Given the description of an element on the screen output the (x, y) to click on. 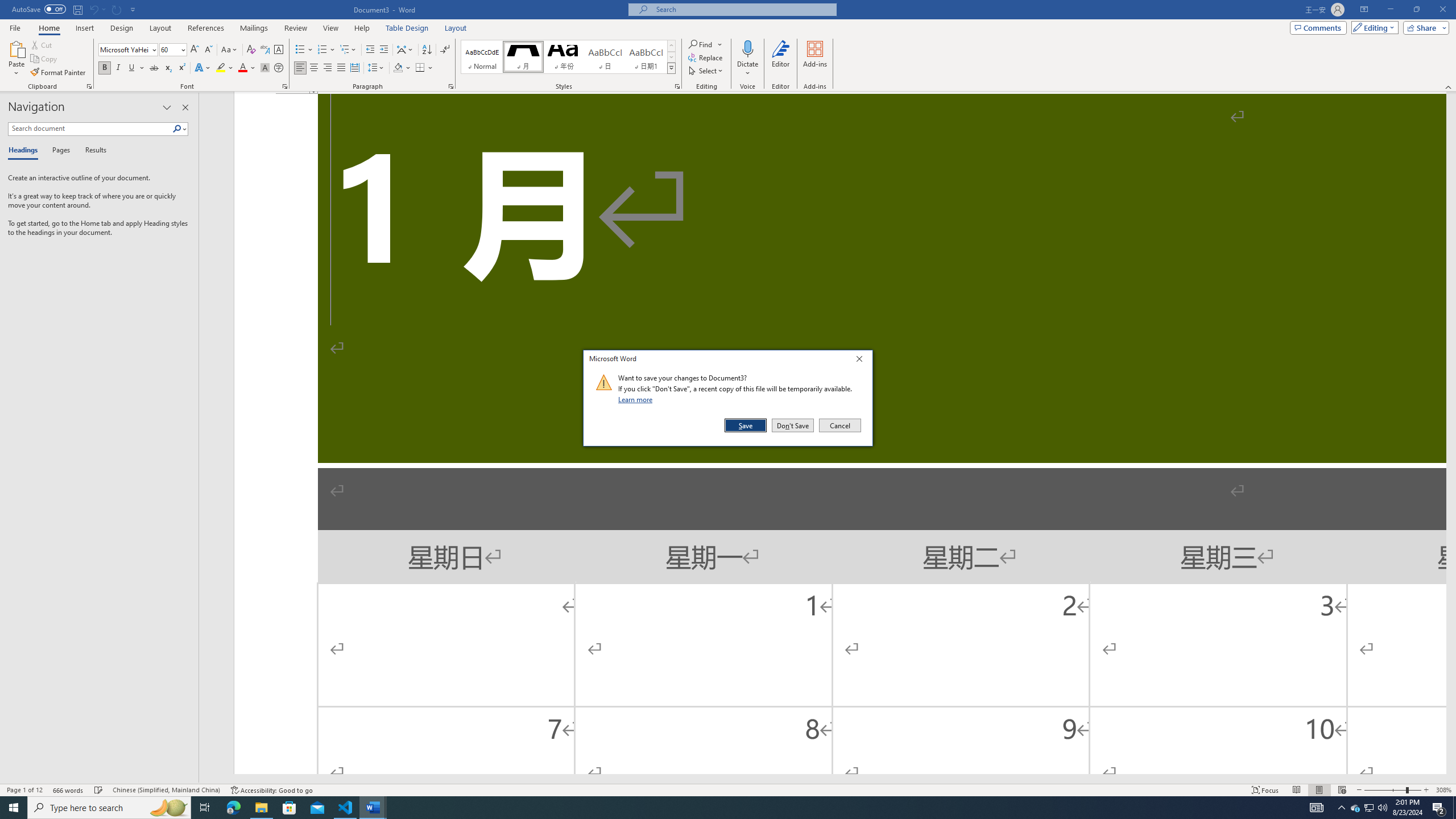
AutoSave (38, 9)
Focus  (1265, 790)
System (6, 6)
Notification Chevron (1341, 807)
Bold (104, 67)
Character Shading (264, 67)
Phonetic Guide... (264, 49)
Learn more (636, 399)
Align Left (300, 67)
Show/Hide Editing Marks (444, 49)
Spelling and Grammar Check Checking (98, 790)
AutomationID: 4105 (1316, 807)
Shrink Font (208, 49)
